Given the description of an element on the screen output the (x, y) to click on. 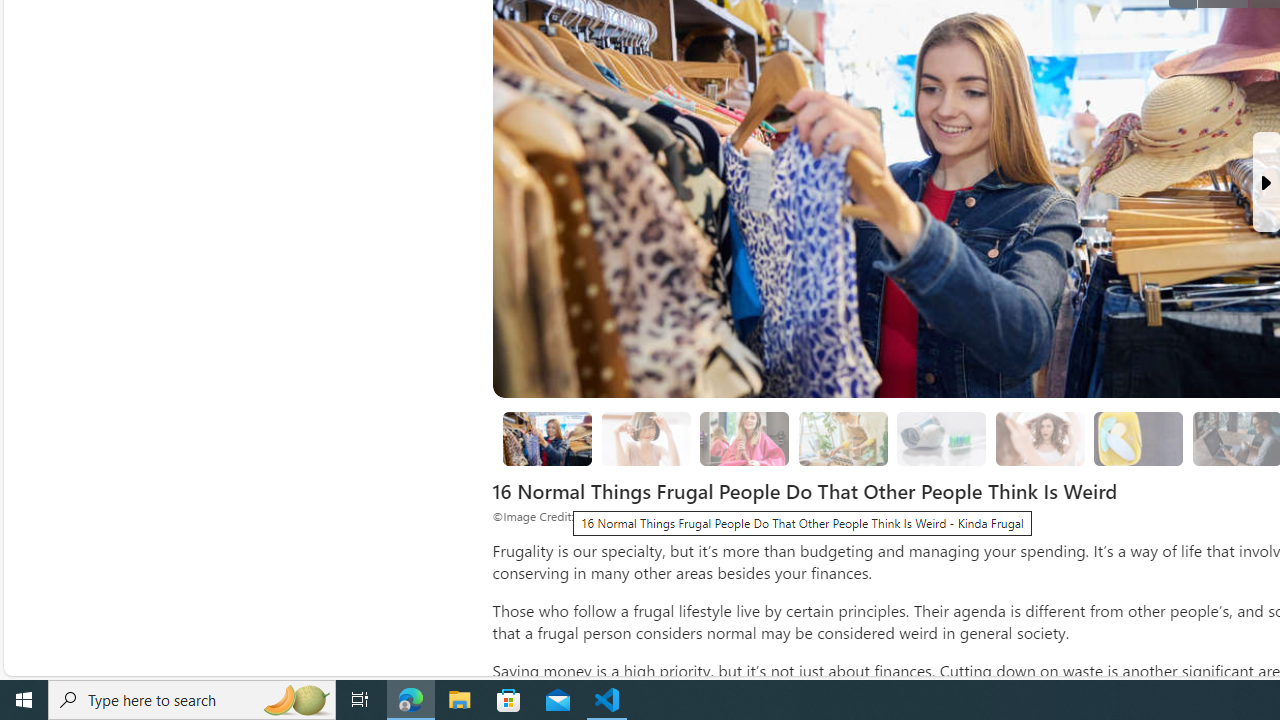
2. Donating Hair (744, 438)
3. Growing From Seeds (843, 439)
8. Thrift Shopping (546, 439)
6. Soap Saving (1138, 439)
Class: progress (1138, 435)
3. Growing From Seeds (842, 438)
4. Cutting the Bottom off the Toothpaste Tube (941, 438)
6. Soap Saving (1139, 438)
2. Donating Hair (743, 439)
8. Thrift Shopping (547, 438)
1. Cutting Hair (646, 439)
5. Not Washing Hair (1039, 438)
4. Cutting the Bottom off the Toothpaste Tube (941, 439)
5. Not Washing Hair (1039, 439)
1. Cutting Hair (646, 438)
